Given the description of an element on the screen output the (x, y) to click on. 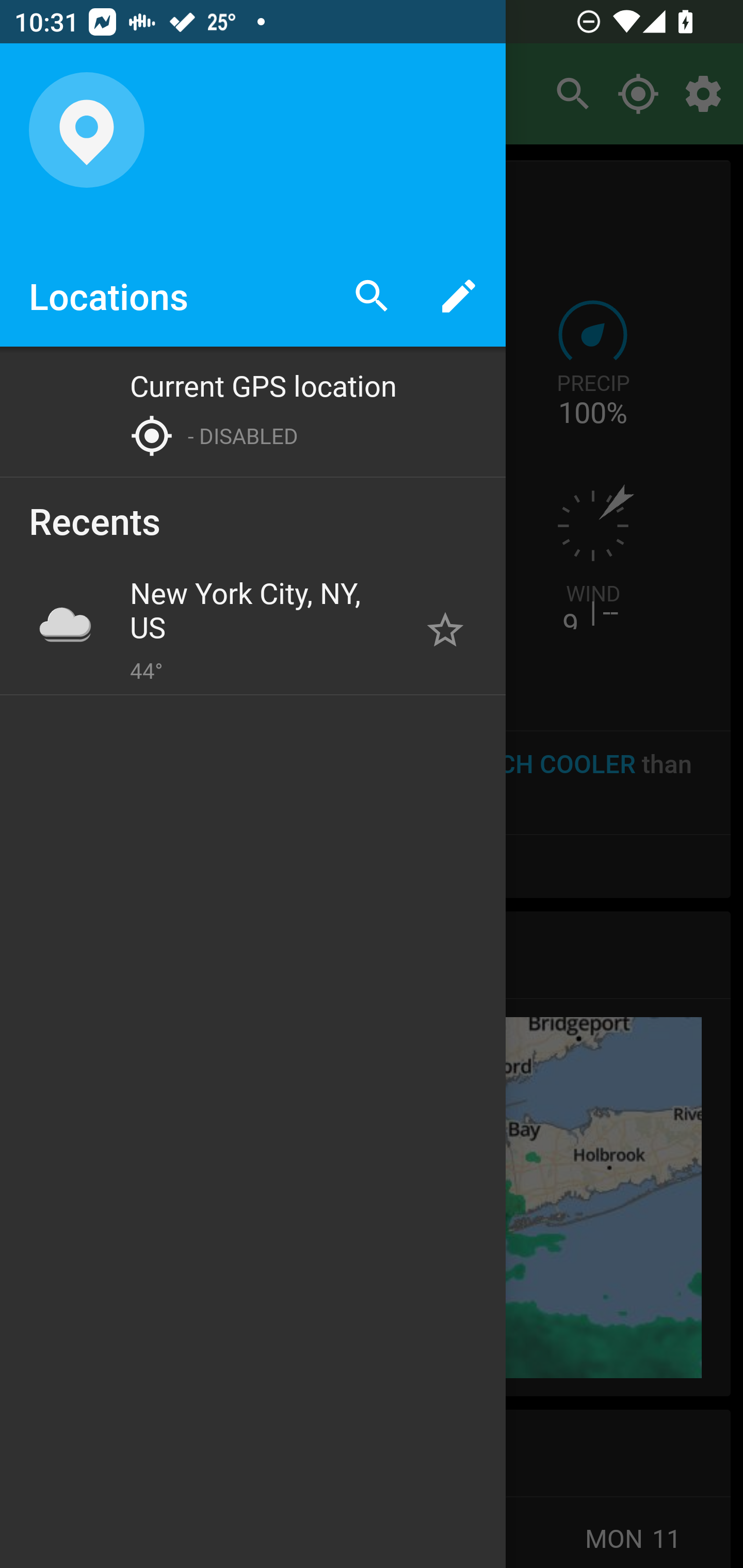
Search for location (371, 295)
Edit (458, 295)
Current GPS location  - DISABLED (252, 412)
Add New York City, NY, US To Favorites (444, 629)
